Given the description of an element on the screen output the (x, y) to click on. 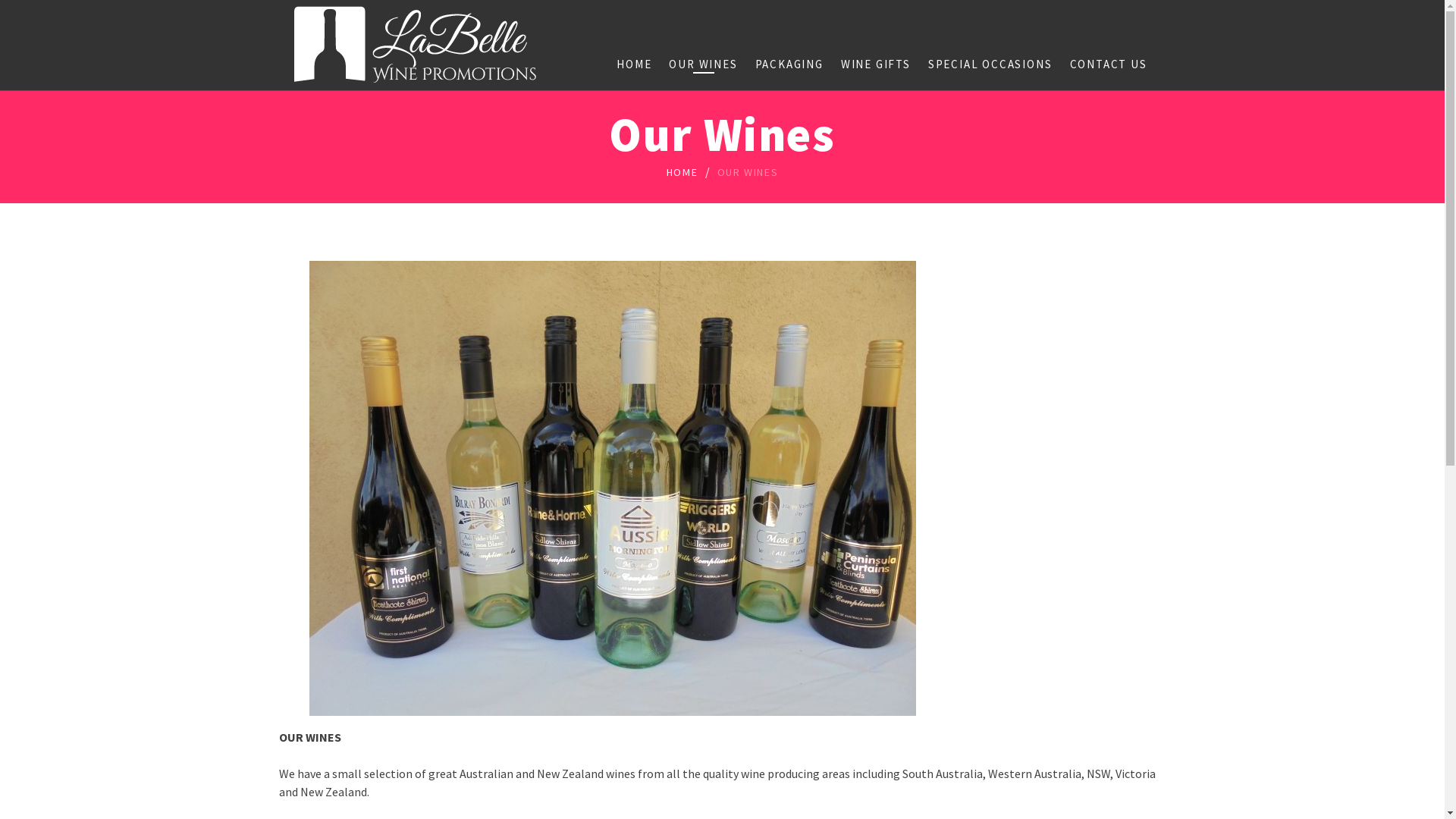
HOME Element type: text (633, 64)
SPECIAL OCCASIONS Element type: text (990, 64)
CONTACT US Element type: text (1107, 64)
PACKAGING Element type: text (789, 64)
HOME Element type: text (681, 172)
OUR WINES Element type: text (702, 64)
106 Element type: hover (612, 487)
WINE GIFTS Element type: text (875, 64)
